Given the description of an element on the screen output the (x, y) to click on. 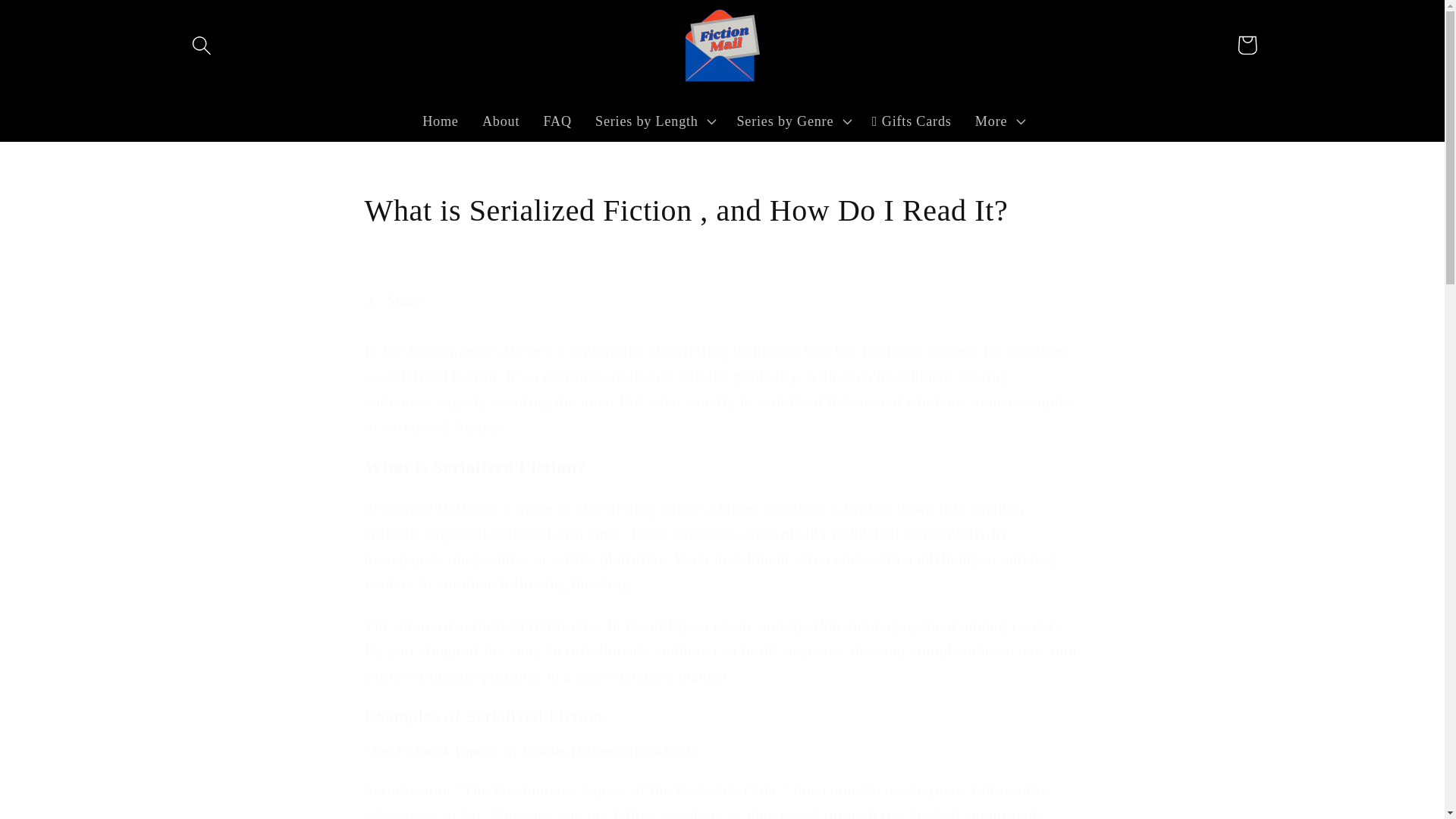
Skip to content (59, 22)
Share (722, 301)
Home (440, 120)
FAQ (557, 120)
What is Serialized Fiction , and How Do I Read It? (722, 210)
About (500, 120)
